Given the description of an element on the screen output the (x, y) to click on. 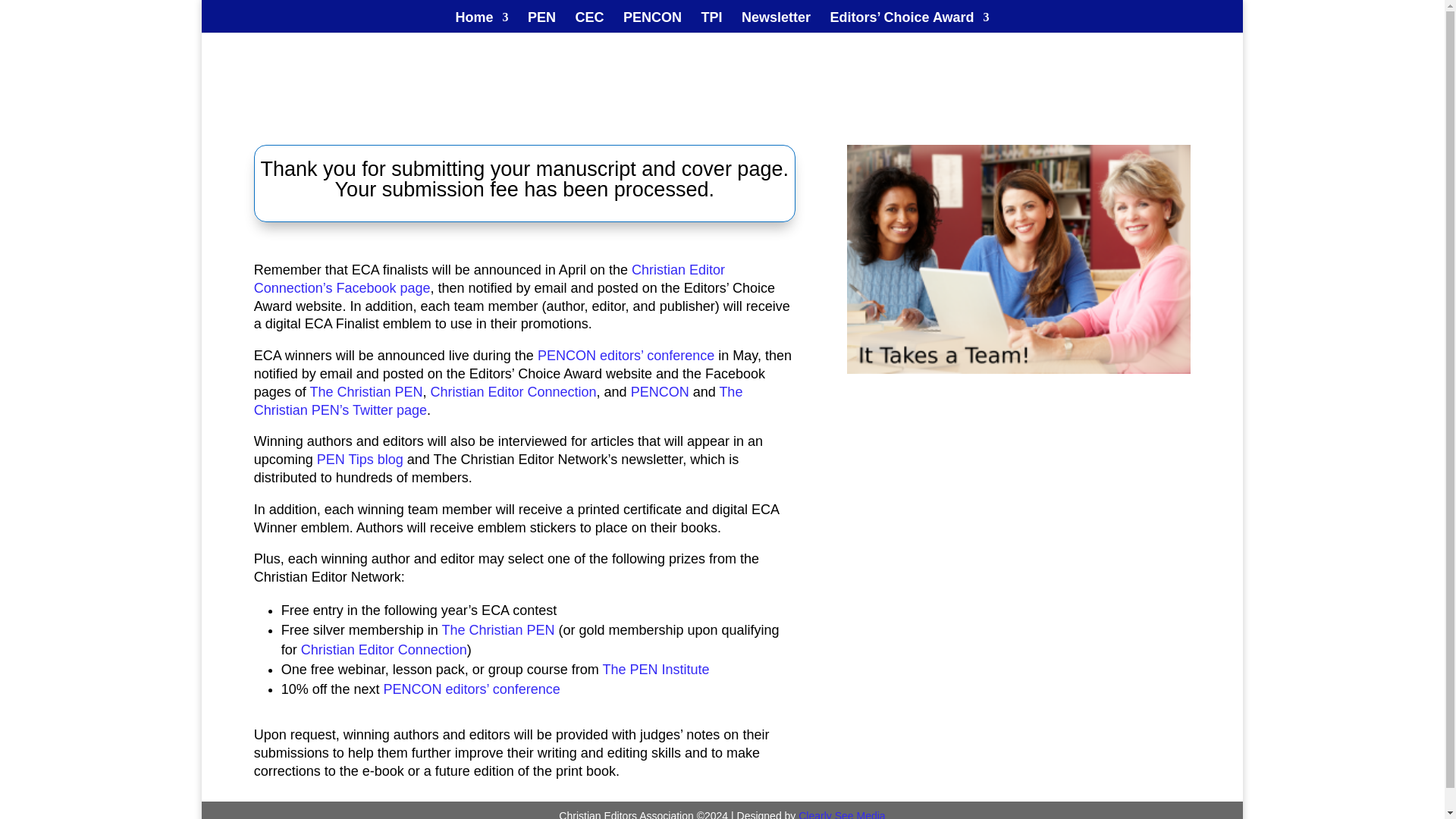
Christian Editor Connection (384, 649)
The Christian PEN (365, 391)
PEN Tips blog (360, 459)
TPI (711, 22)
CEC (589, 22)
PEN (541, 22)
The PEN Institute (656, 669)
The Christian PEN (497, 630)
Newsletter (775, 22)
Christian Editor Connection (512, 391)
PENCON (659, 391)
PENCON (652, 22)
Home (481, 22)
